Given the description of an element on the screen output the (x, y) to click on. 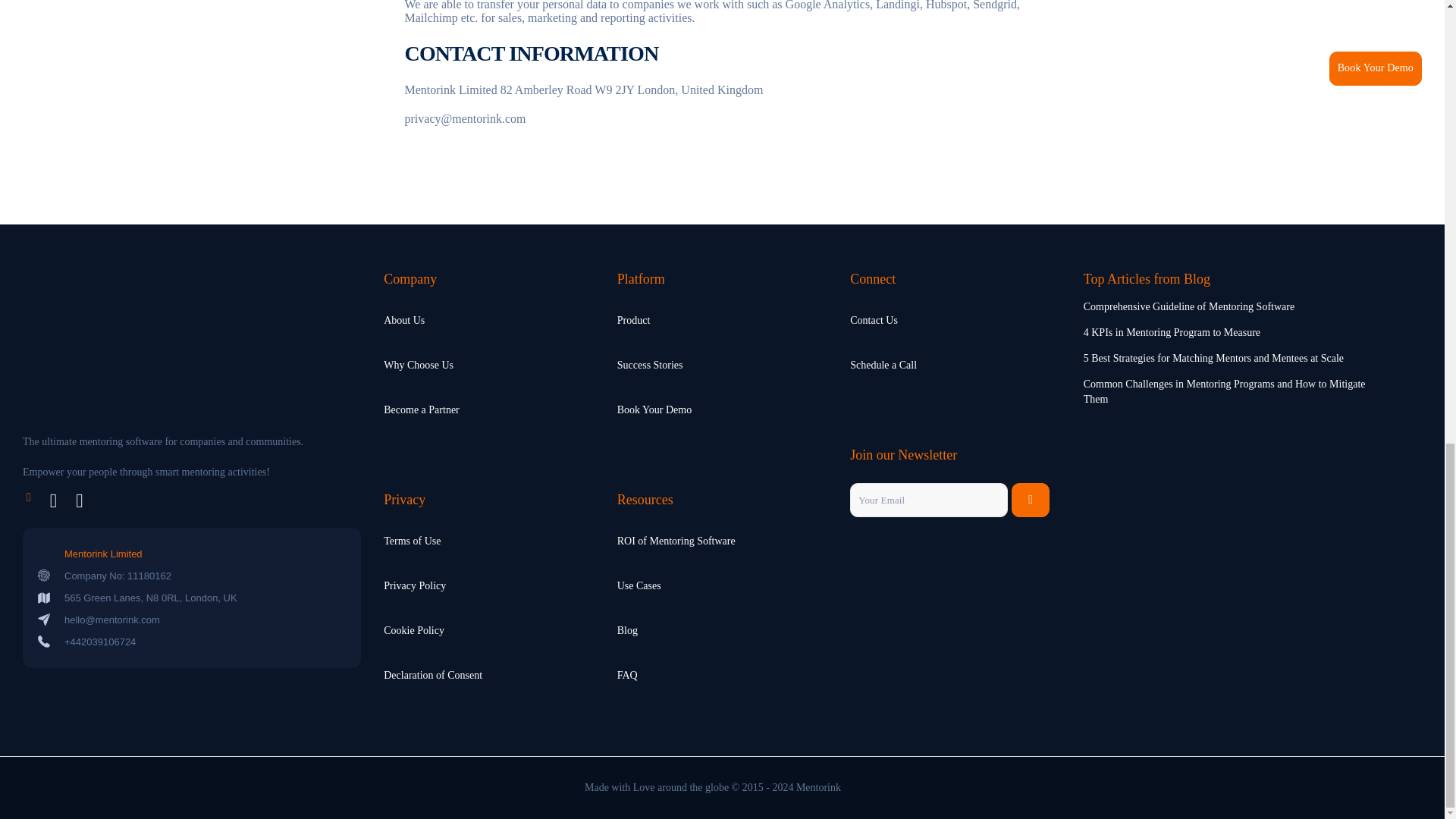
Success Stories (649, 364)
Schedule a Call (883, 364)
Become a Partner (422, 409)
5 Best Strategies for Matching Mentors and Mentees at Scale (1213, 358)
Declaration of Consent (432, 675)
Privacy Policy (414, 585)
Contact Us (874, 320)
ROI of Mentoring Software (676, 540)
About Us (404, 320)
Book Your Demo (654, 409)
